Given the description of an element on the screen output the (x, y) to click on. 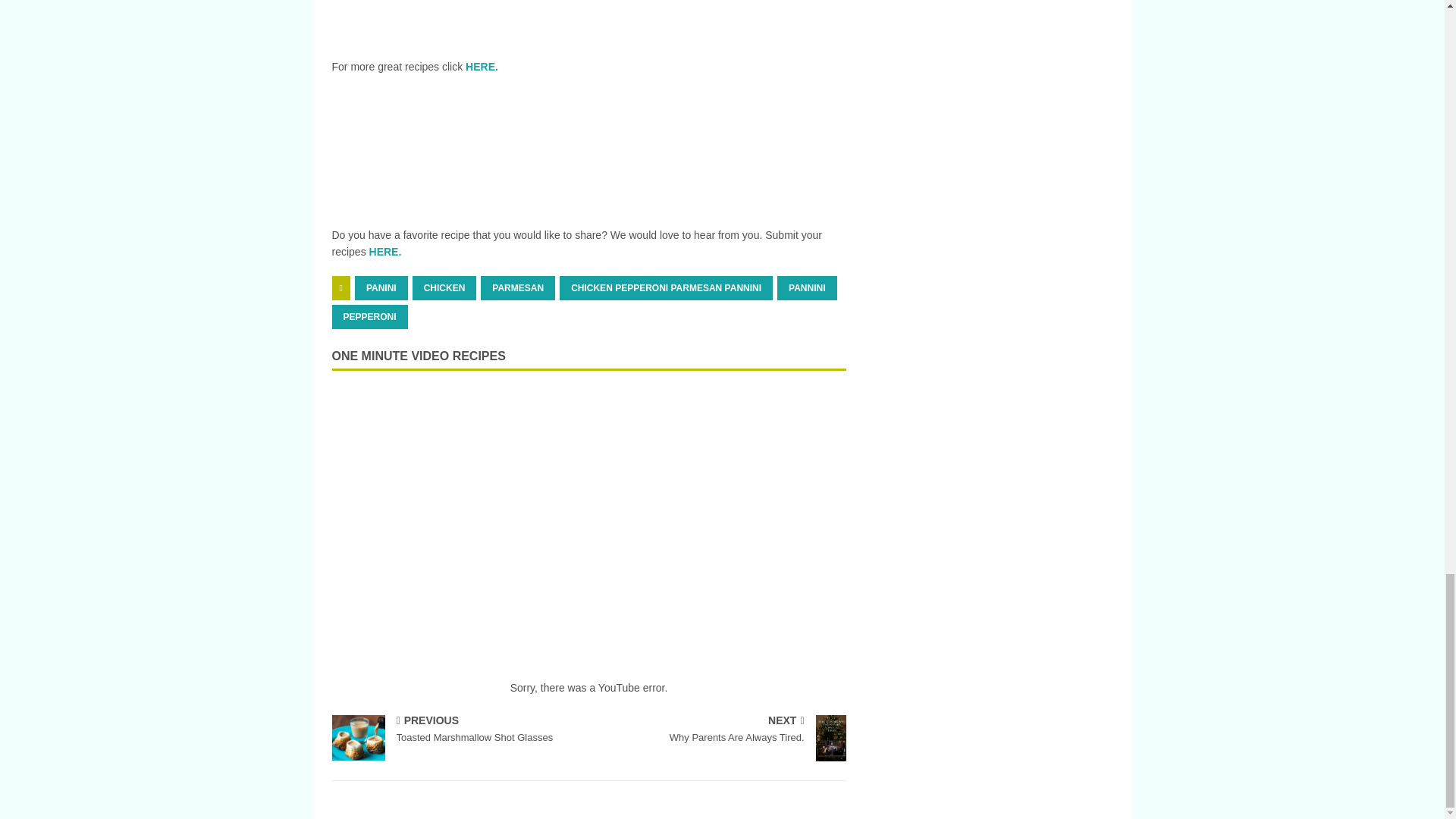
PANNINI (806, 288)
CHICKEN (444, 288)
HERE. (481, 66)
PARMESAN (517, 288)
PANINI (381, 288)
CHICKEN PEPPERONI PARMESAN PANNINI (666, 288)
HERE. (385, 251)
PEPPERONI (369, 316)
